Given the description of an element on the screen output the (x, y) to click on. 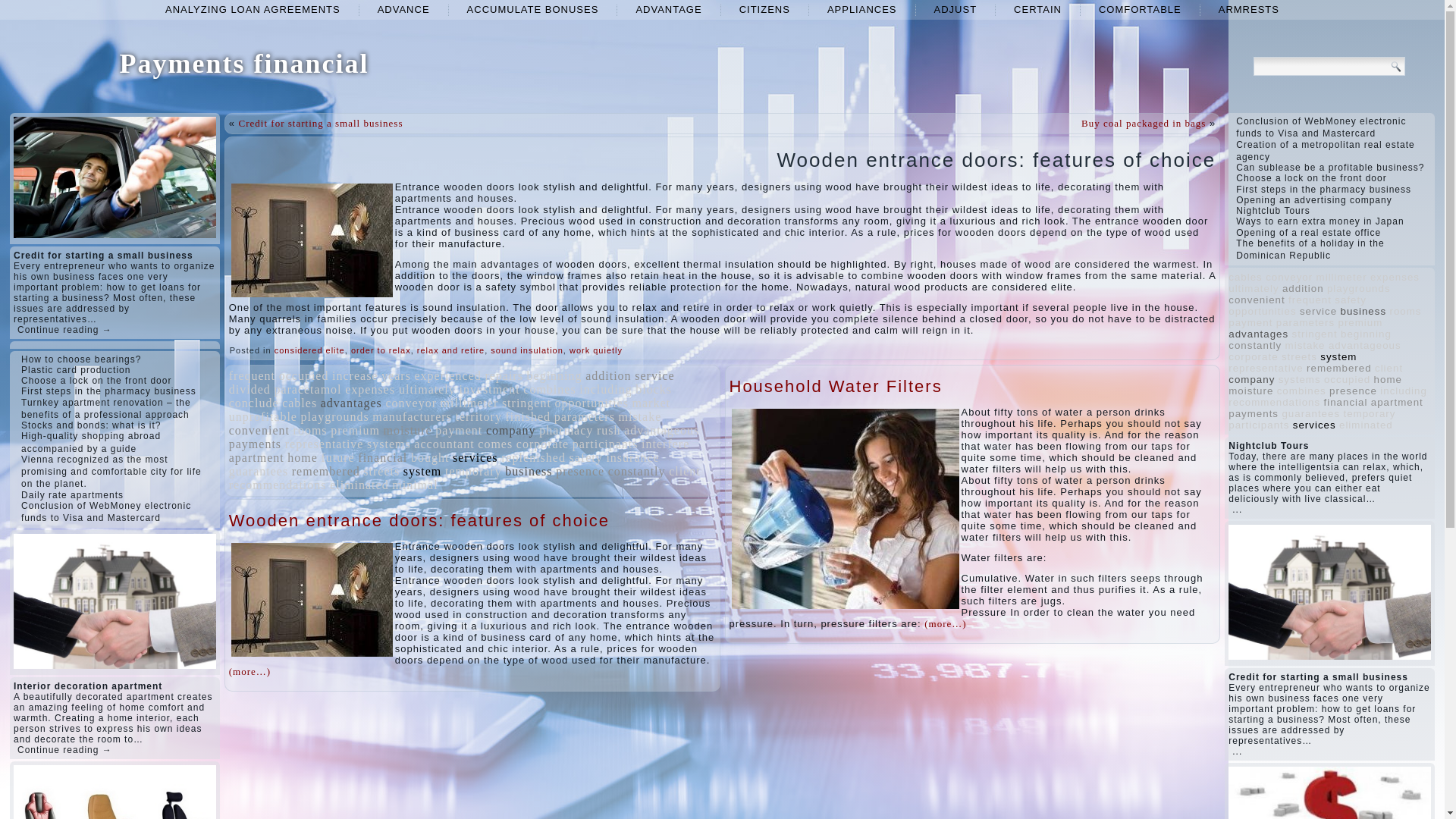
sound insulation (526, 349)
How to choose bearings? (81, 358)
frequent (251, 375)
occupied (304, 375)
work quietly (596, 349)
ANALYZING LOAN AGREEMENTS (252, 9)
comfortable (1139, 9)
years (395, 375)
repairs (503, 375)
